Given the description of an element on the screen output the (x, y) to click on. 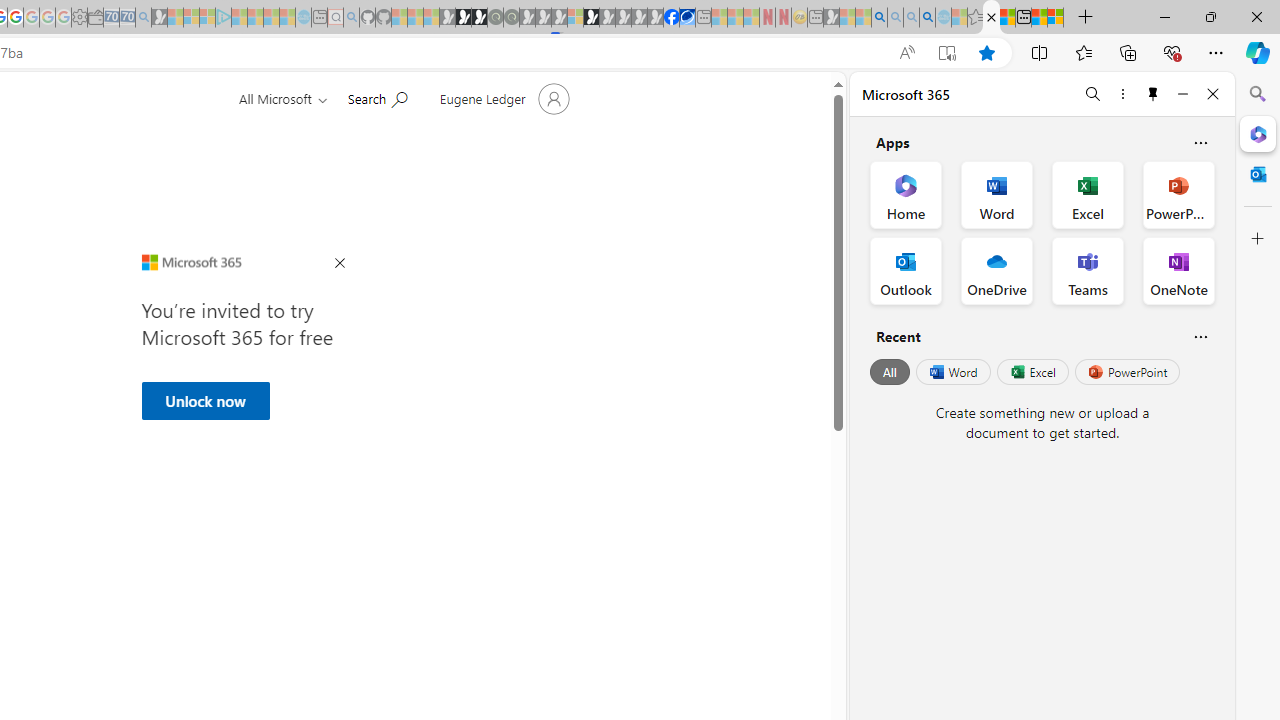
Unlock now (205, 399)
Home | Sky Blue Bikes - Sky Blue Bikes - Sleeping (303, 17)
